Given the description of an element on the screen output the (x, y) to click on. 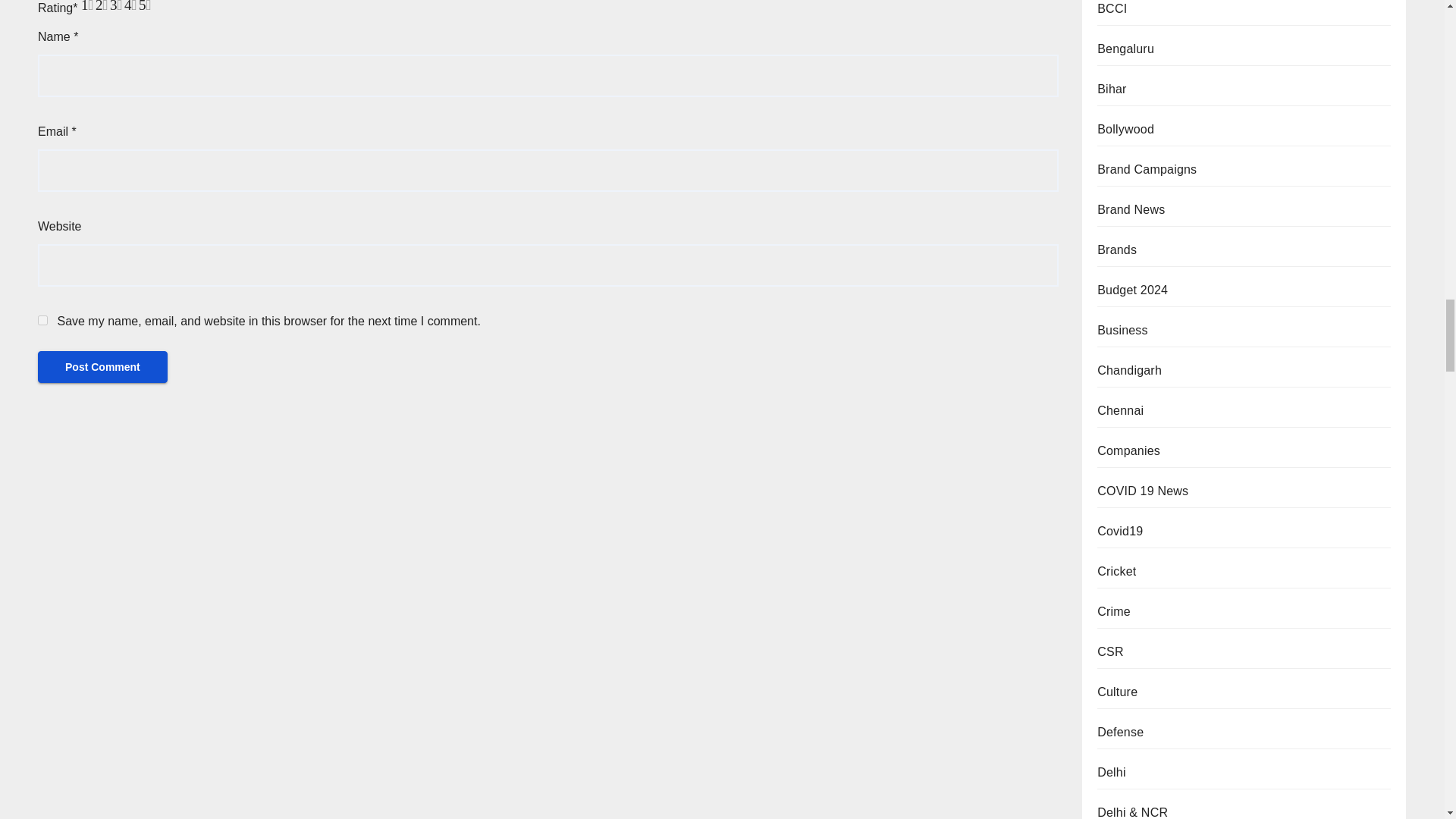
Post Comment (102, 367)
yes (42, 320)
